Given the description of an element on the screen output the (x, y) to click on. 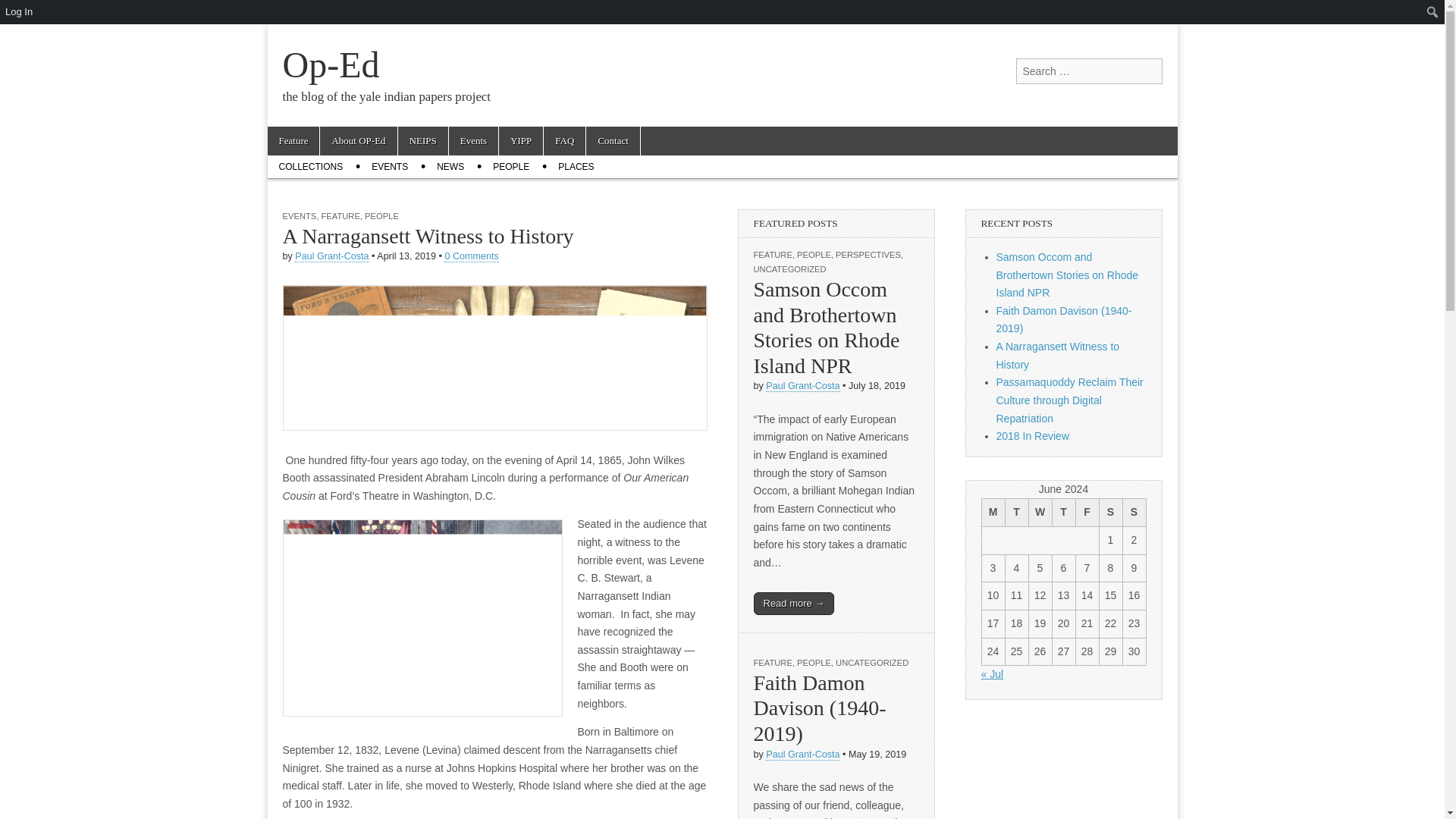
Search (23, 12)
Feature (292, 140)
PEOPLE (813, 254)
COLLECTIONS (309, 166)
FAQ (564, 140)
NEIPS (422, 140)
EVENTS (389, 166)
Posts by Paul Grant-Costa (802, 386)
Op-Ed (330, 65)
Paul Grant-Costa (331, 256)
Posts by Paul Grant-Costa (802, 754)
FEATURE (773, 662)
0 Comments (470, 256)
